Given the description of an element on the screen output the (x, y) to click on. 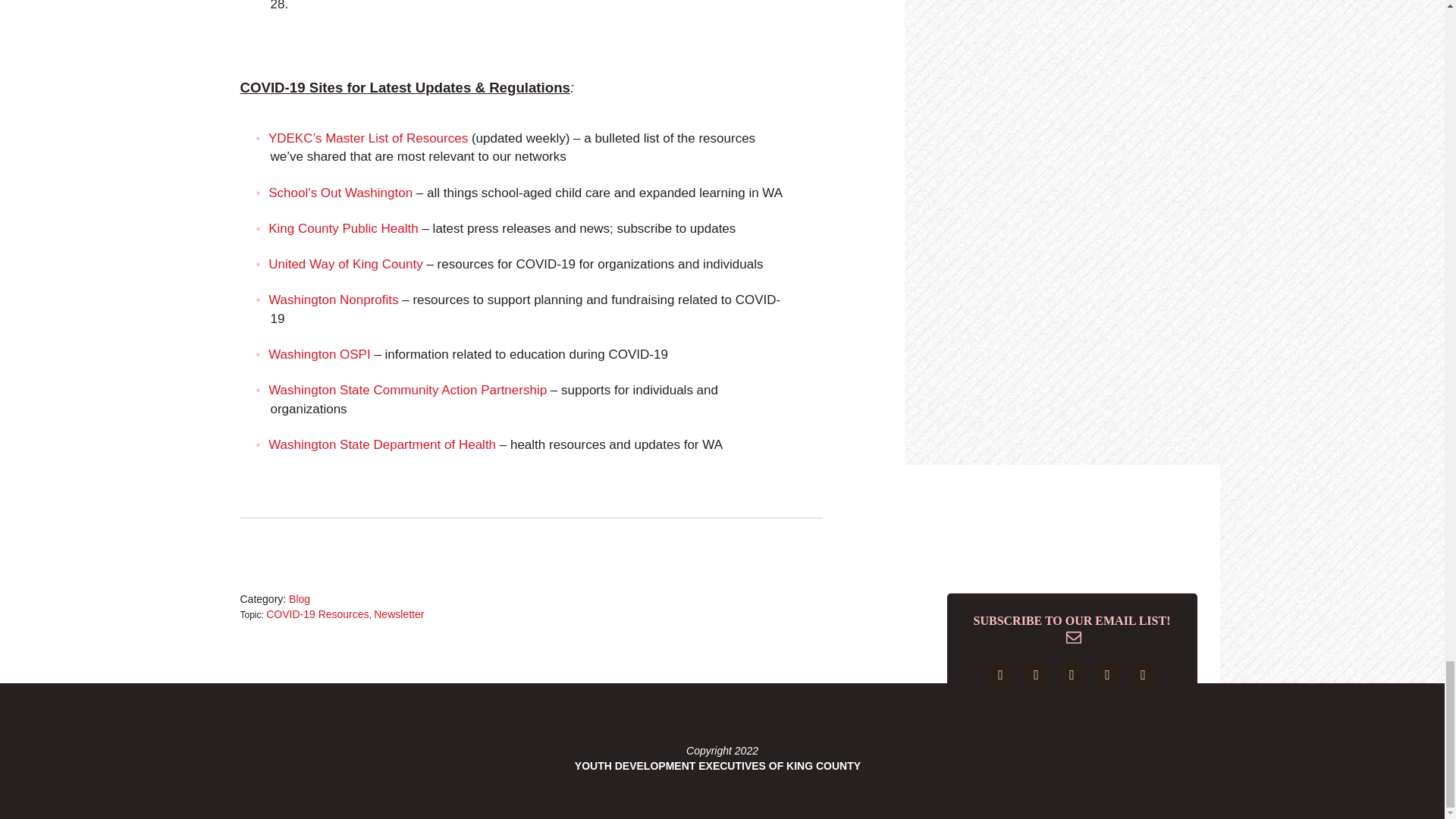
Default Label (1107, 672)
Default Label (1143, 672)
Facebook (1000, 672)
Twitter (1035, 672)
Instagram (1071, 672)
